Given the description of an element on the screen output the (x, y) to click on. 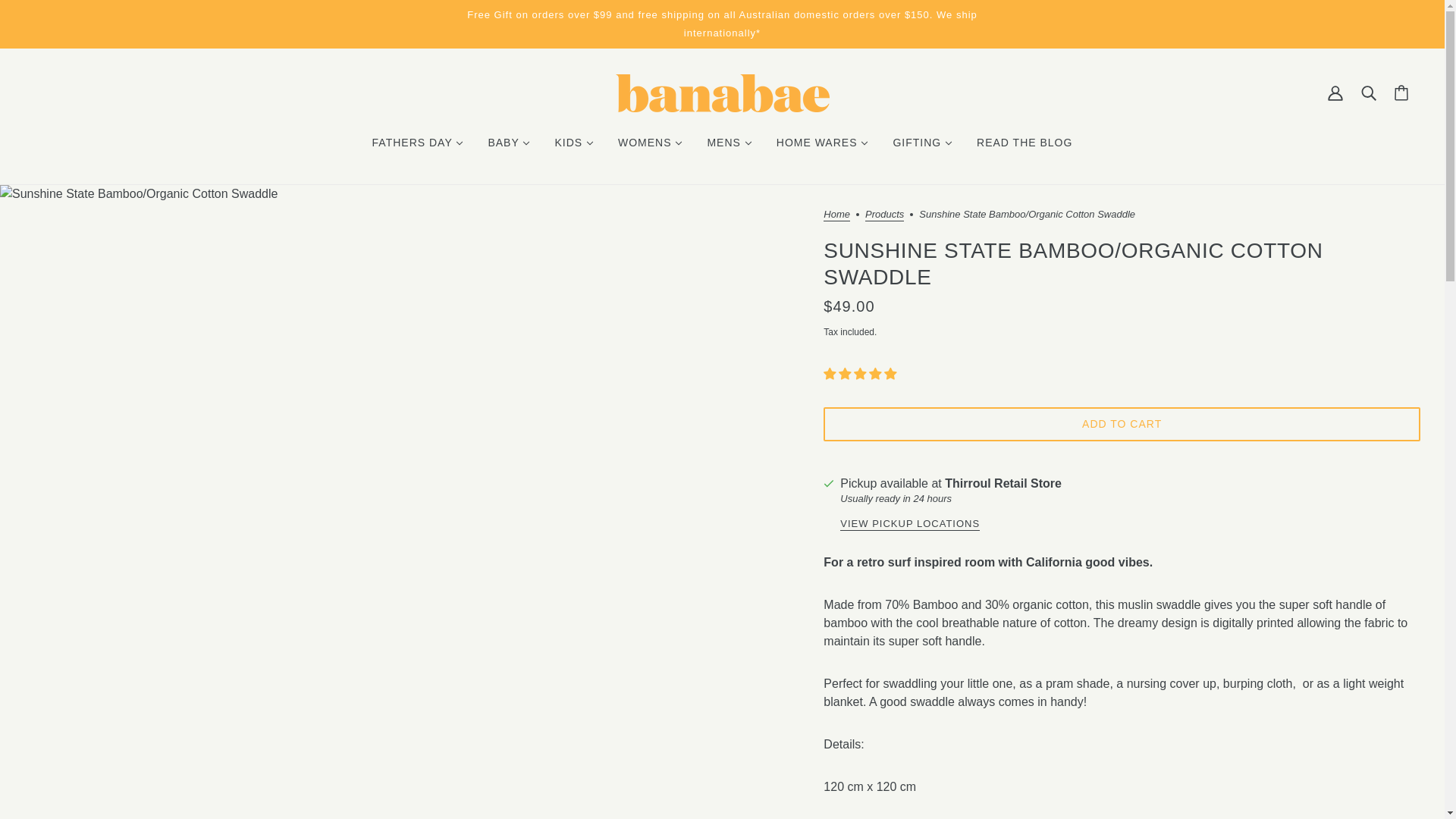
WOMENS  (649, 142)
KIDS  (573, 142)
BABY  (508, 142)
FATHERS DAY  (417, 142)
Banabae (722, 93)
